Given the description of an element on the screen output the (x, y) to click on. 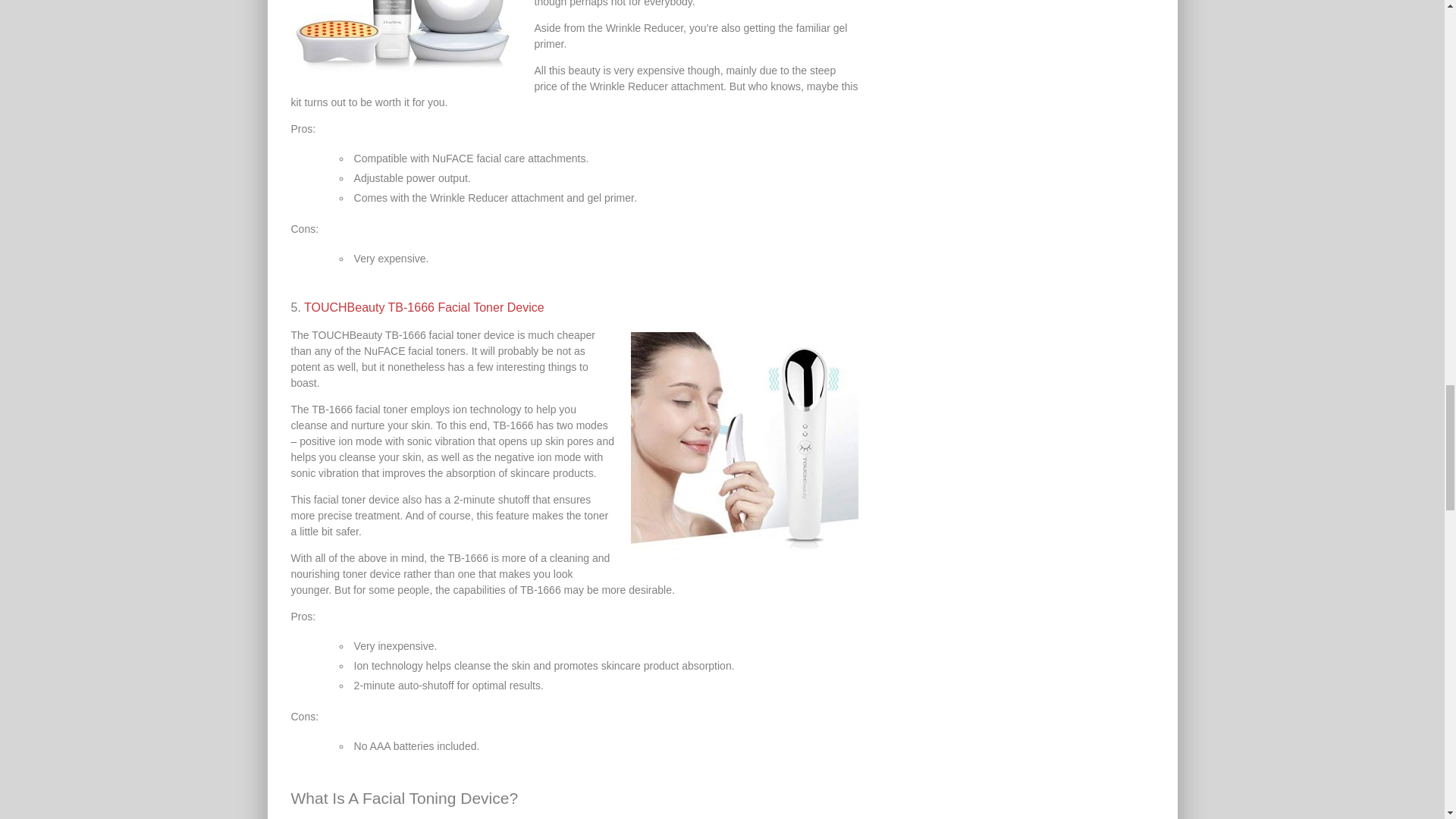
TOUCHBeauty TB-1666 Facial Toner Device (424, 307)
